Given the description of an element on the screen output the (x, y) to click on. 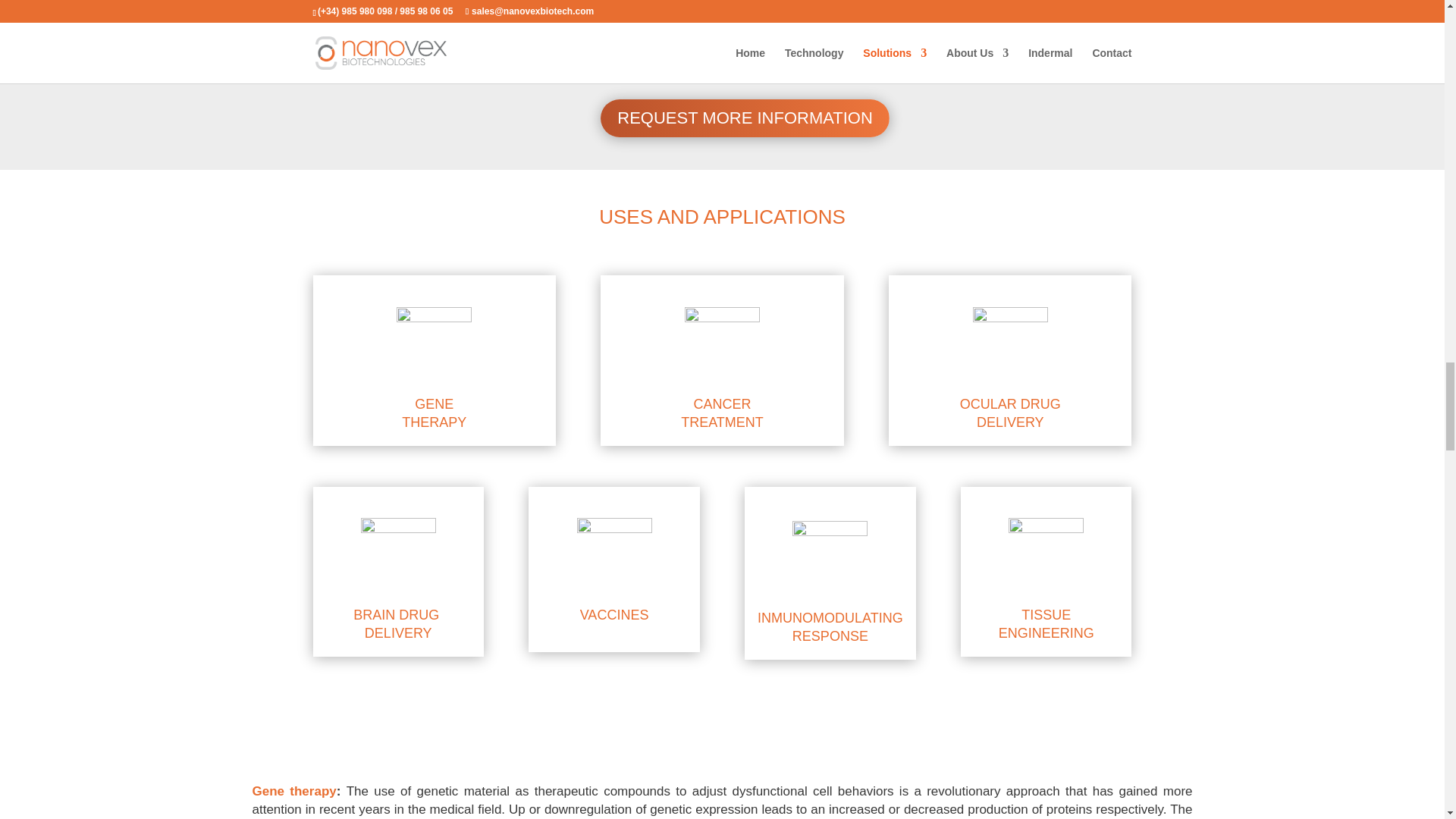
REQUEST MORE INFORMATION (744, 118)
